Given the description of an element on the screen output the (x, y) to click on. 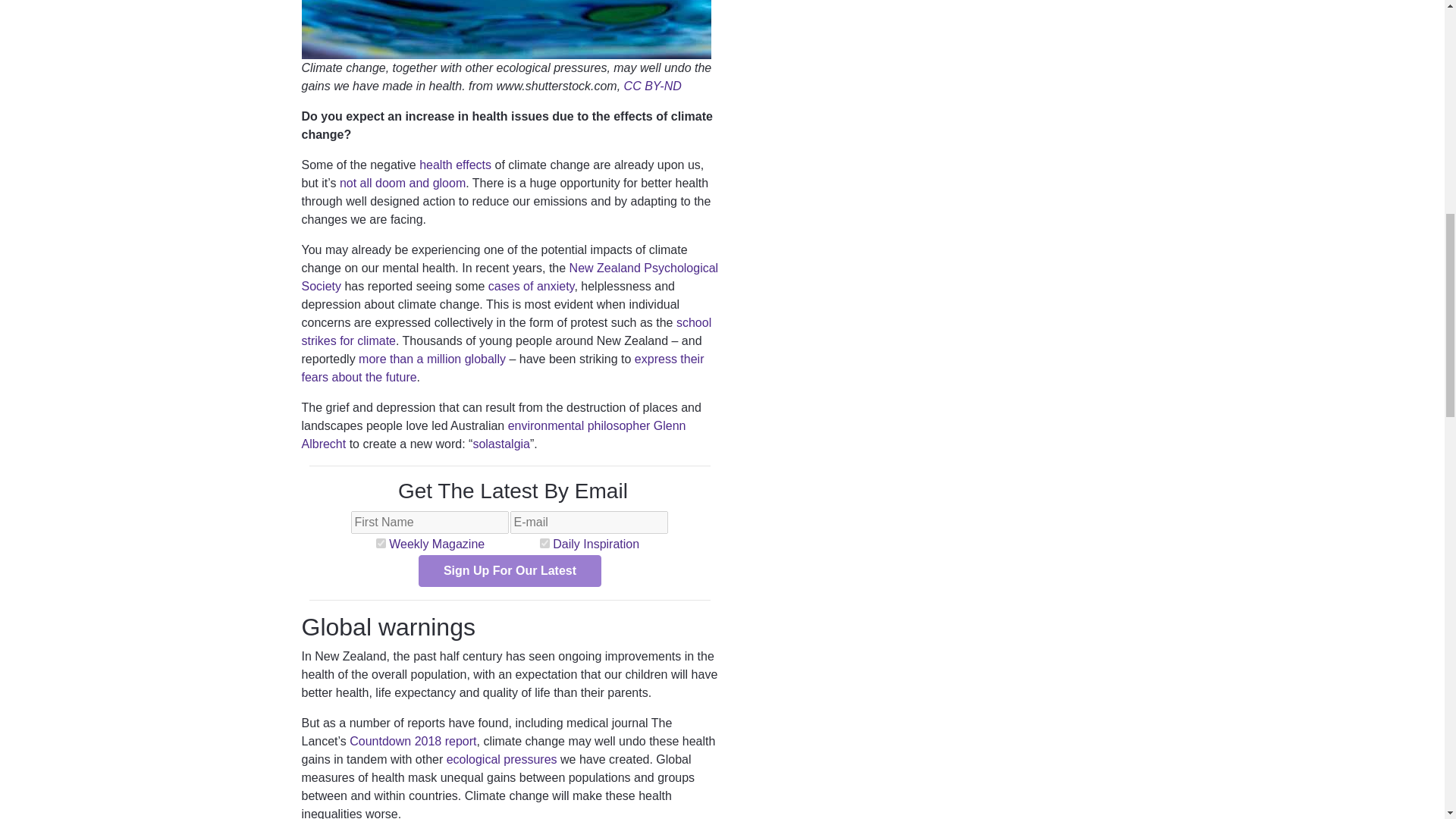
3 (380, 542)
4 (545, 542)
Sign Up For Our Latest (510, 571)
